Given the description of an element on the screen output the (x, y) to click on. 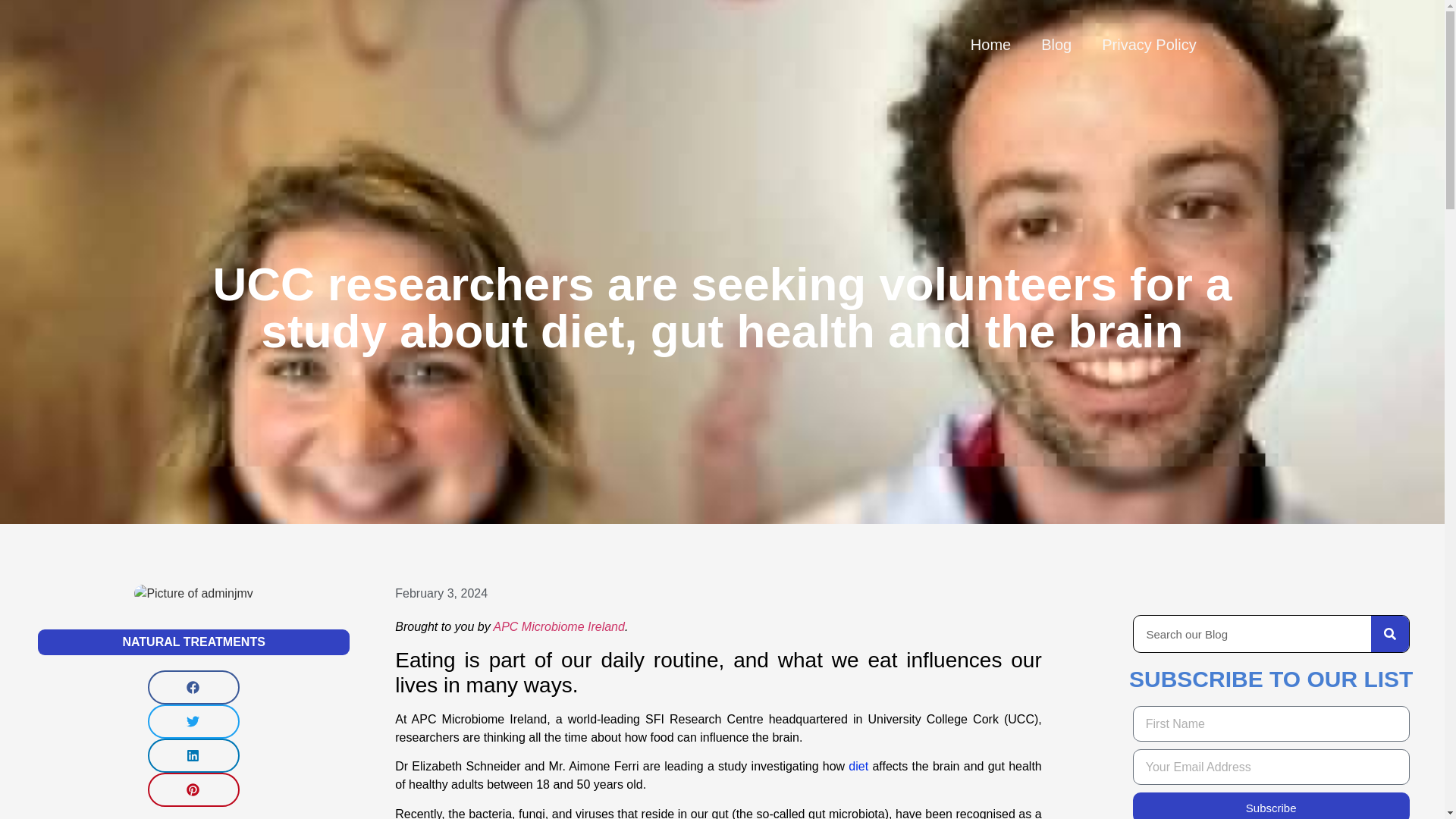
Privacy Policy (1148, 44)
Alpilean (857, 766)
Home (990, 44)
